Given the description of an element on the screen output the (x, y) to click on. 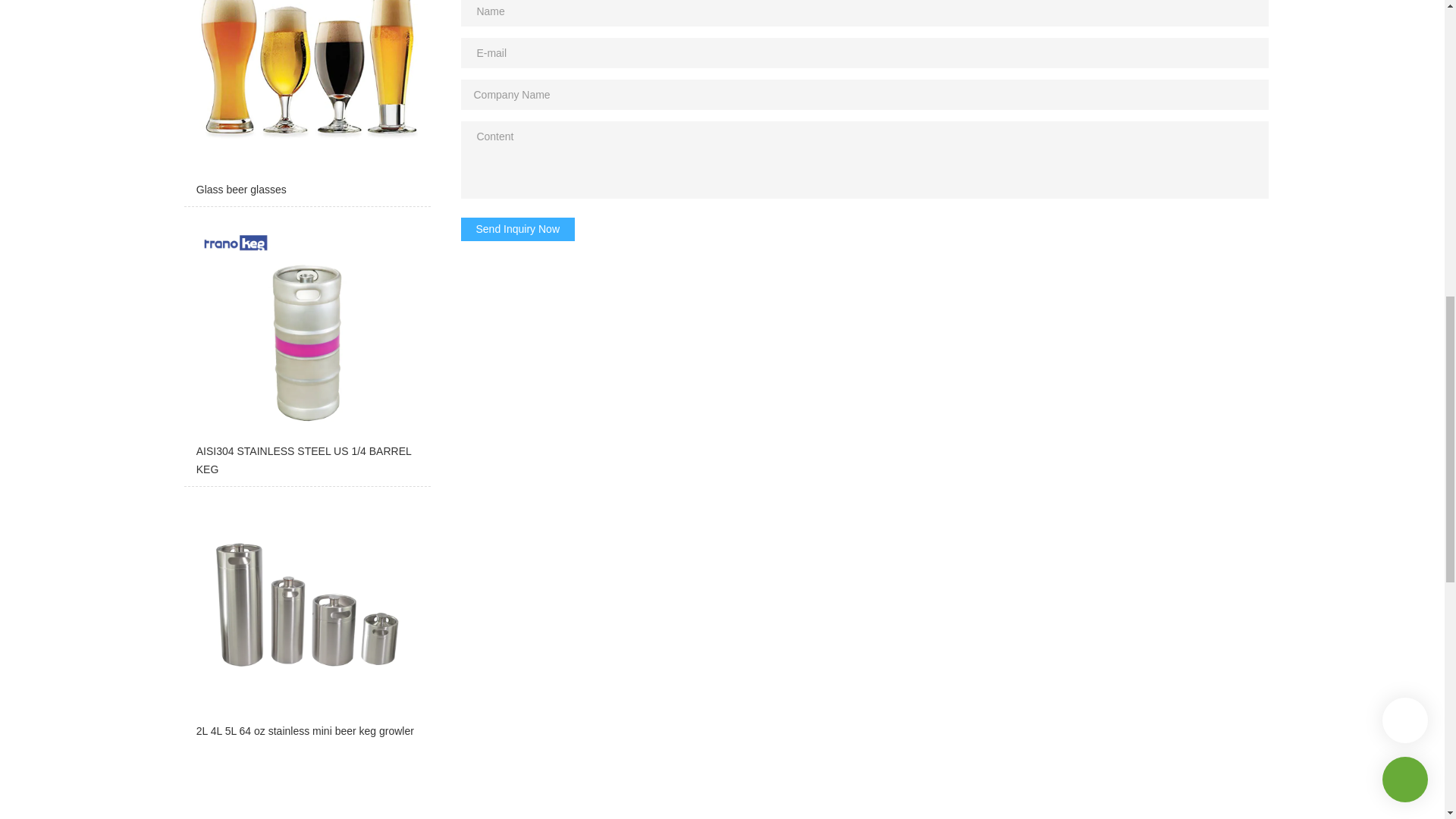
Glass beer glasses (306, 103)
